Given the description of an element on the screen output the (x, y) to click on. 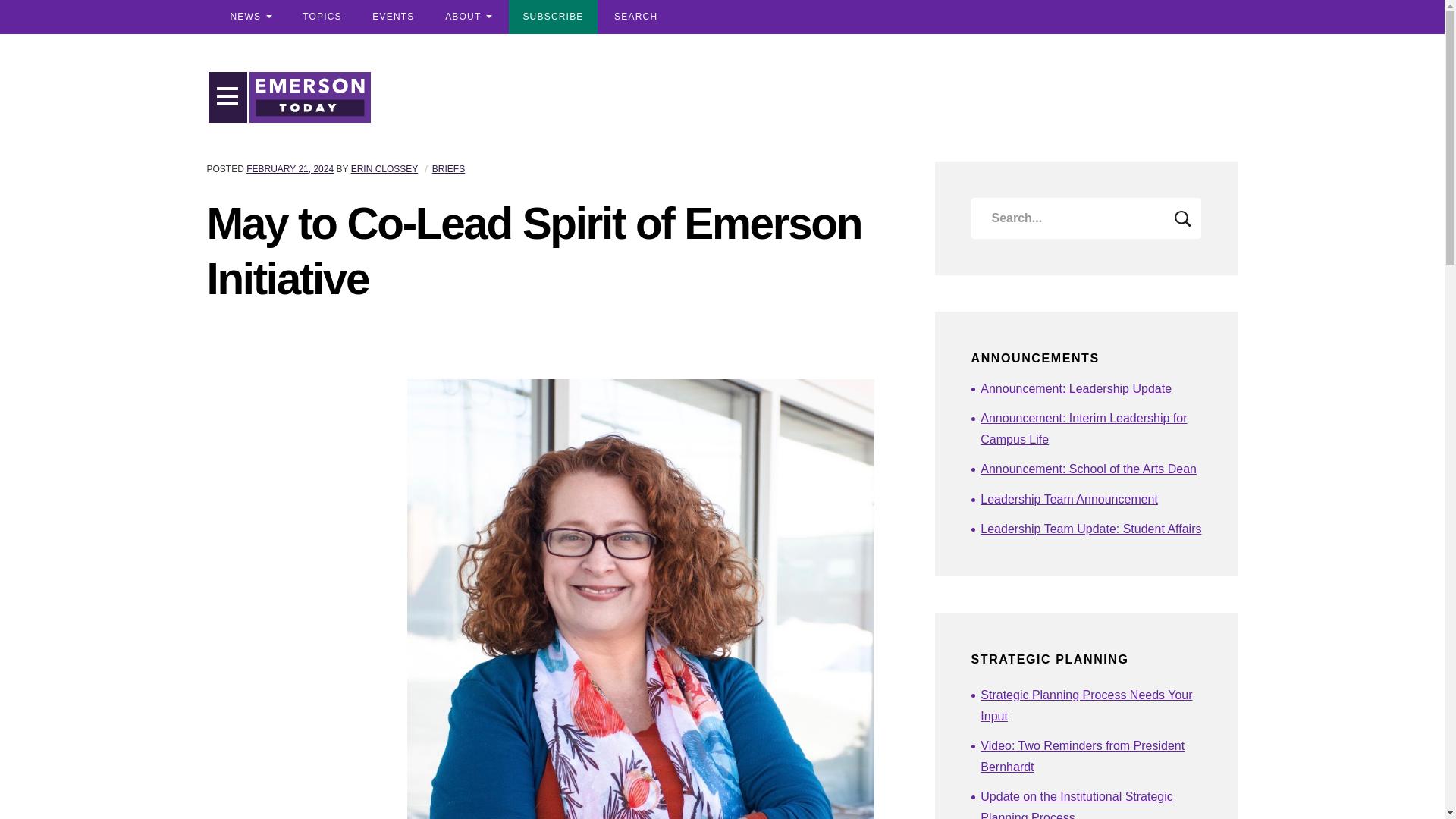
Announcement: Interim Leadership for Campus Life (1090, 428)
EMERSON TODAY LOGO (308, 97)
ERIN CLOSSEY (383, 168)
TOPICS (321, 17)
Leadership Team Update: Student Affairs (1090, 528)
NEWS (250, 17)
EMERSON TODAY LOGO (308, 97)
BRIEFS (448, 168)
ABOUT (467, 17)
Announcement: School of the Arts Dean (1090, 468)
SUBSCRIBE (552, 17)
EVENTS (393, 17)
Leadership Team Announcement (1090, 499)
Announcement: Leadership Update (1090, 388)
Strategic Planning Process Needs Your Input (1090, 705)
